Given the description of an element on the screen output the (x, y) to click on. 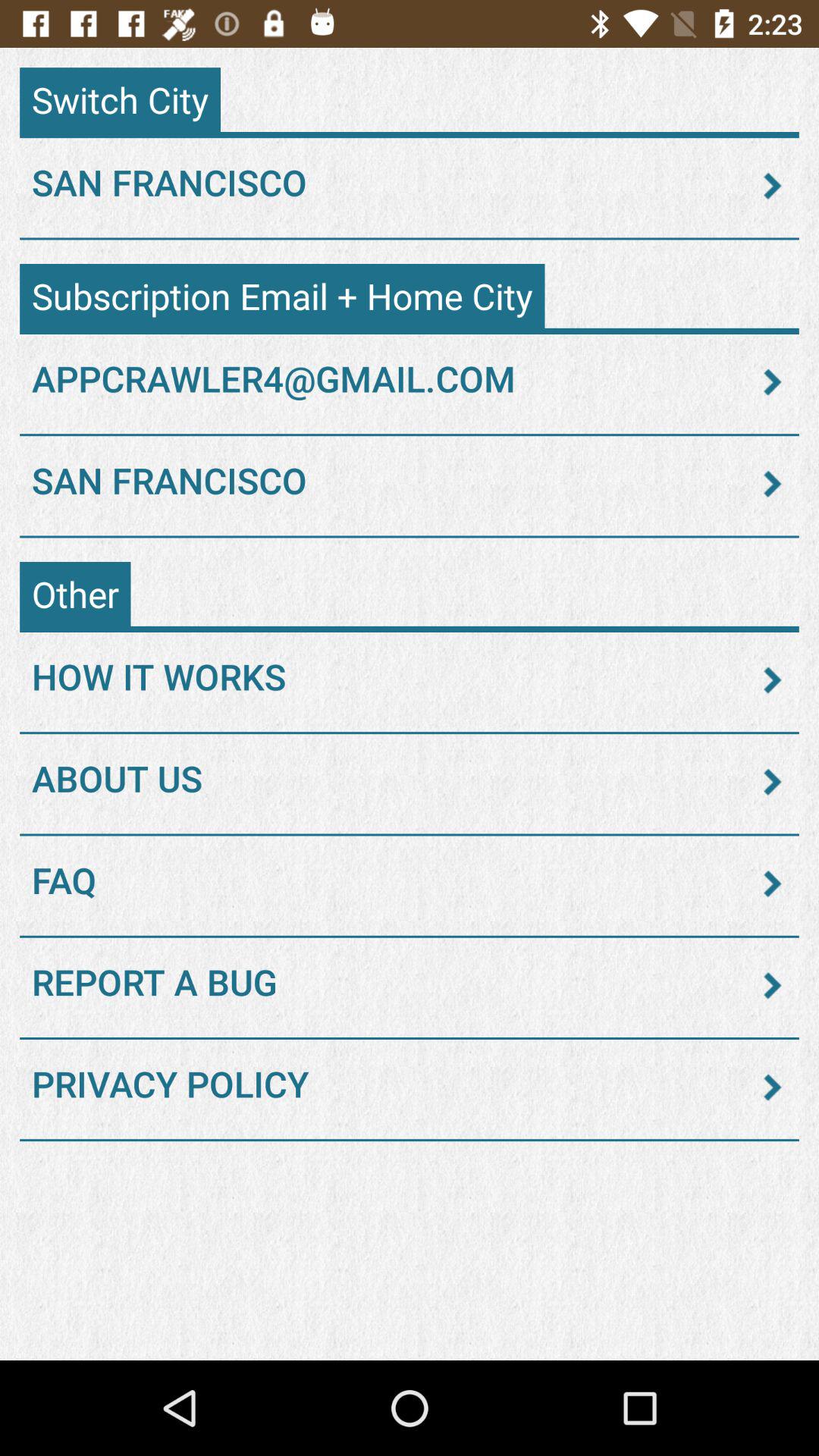
scroll to how it works item (409, 680)
